Given the description of an element on the screen output the (x, y) to click on. 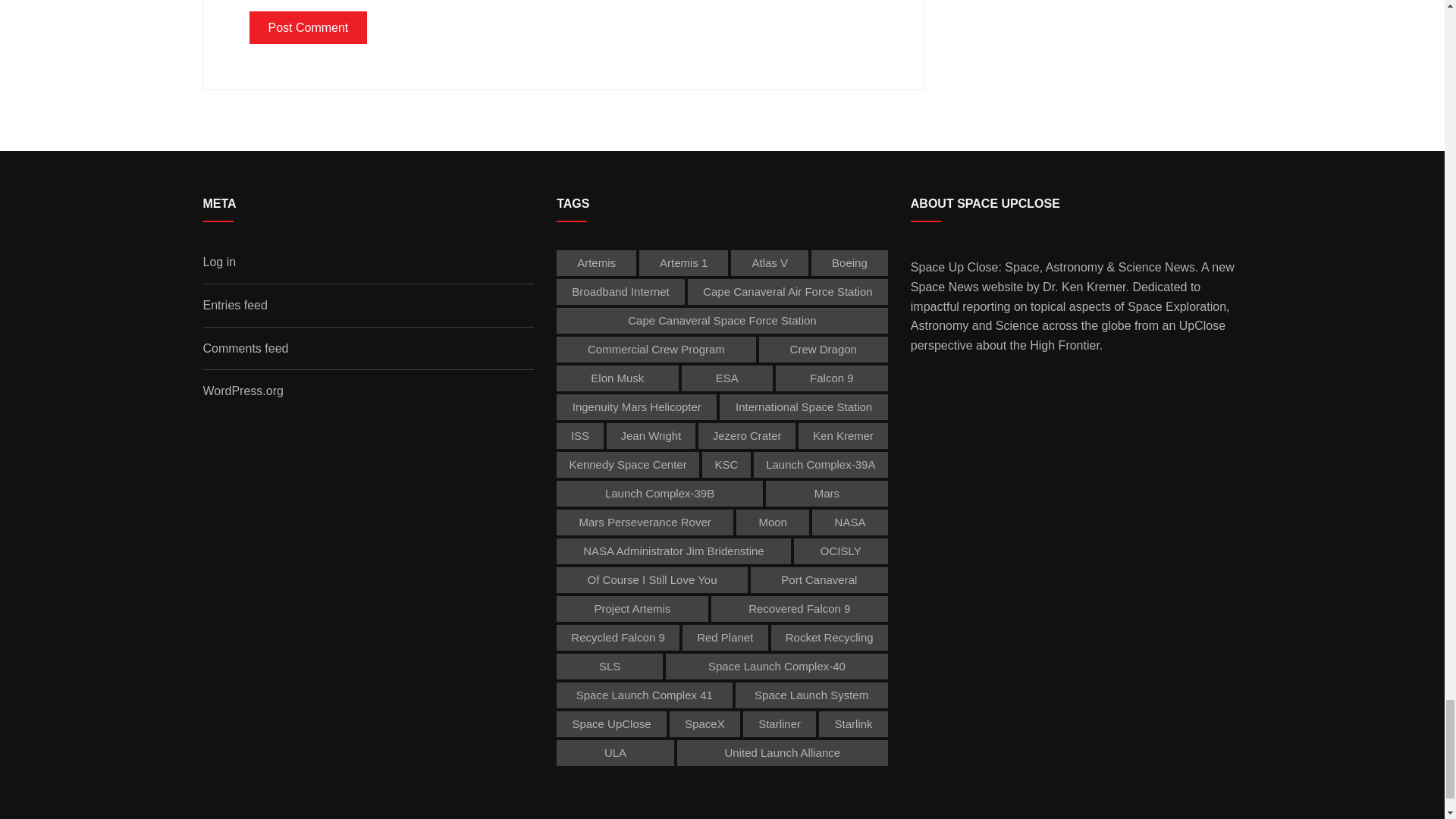
Post Comment (307, 28)
